Given the description of an element on the screen output the (x, y) to click on. 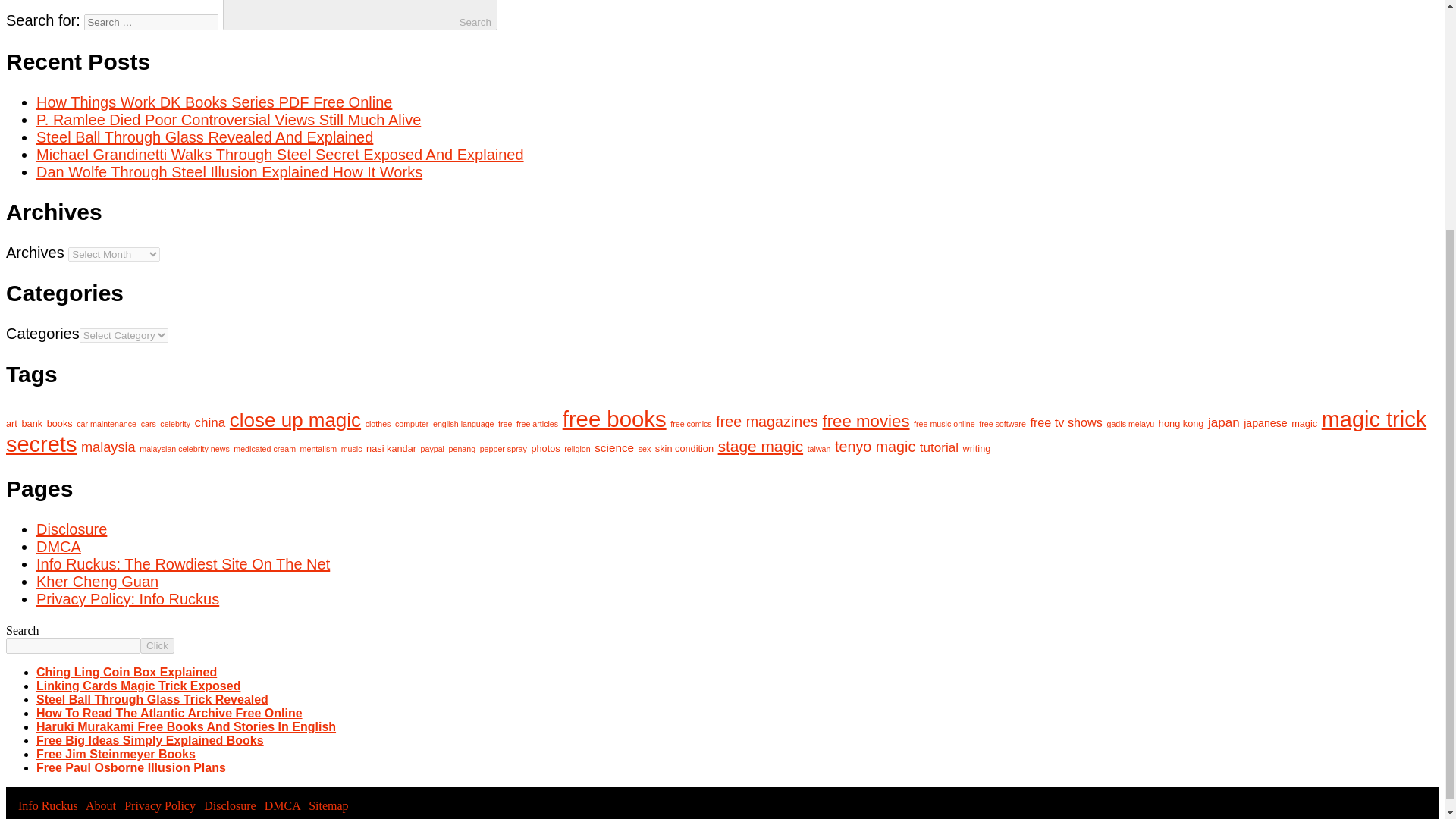
Dan Wolfe Through Steel Illusion Explained How It Works (229, 171)
free music online (944, 423)
malaysian celebrity news (183, 448)
english language (463, 423)
free movies (866, 420)
bank (31, 423)
hong kong (1181, 423)
free (504, 423)
free tv shows (1065, 422)
P. Ramlee Died Poor Controversial Views Still Much Alive (228, 119)
